Given the description of an element on the screen output the (x, y) to click on. 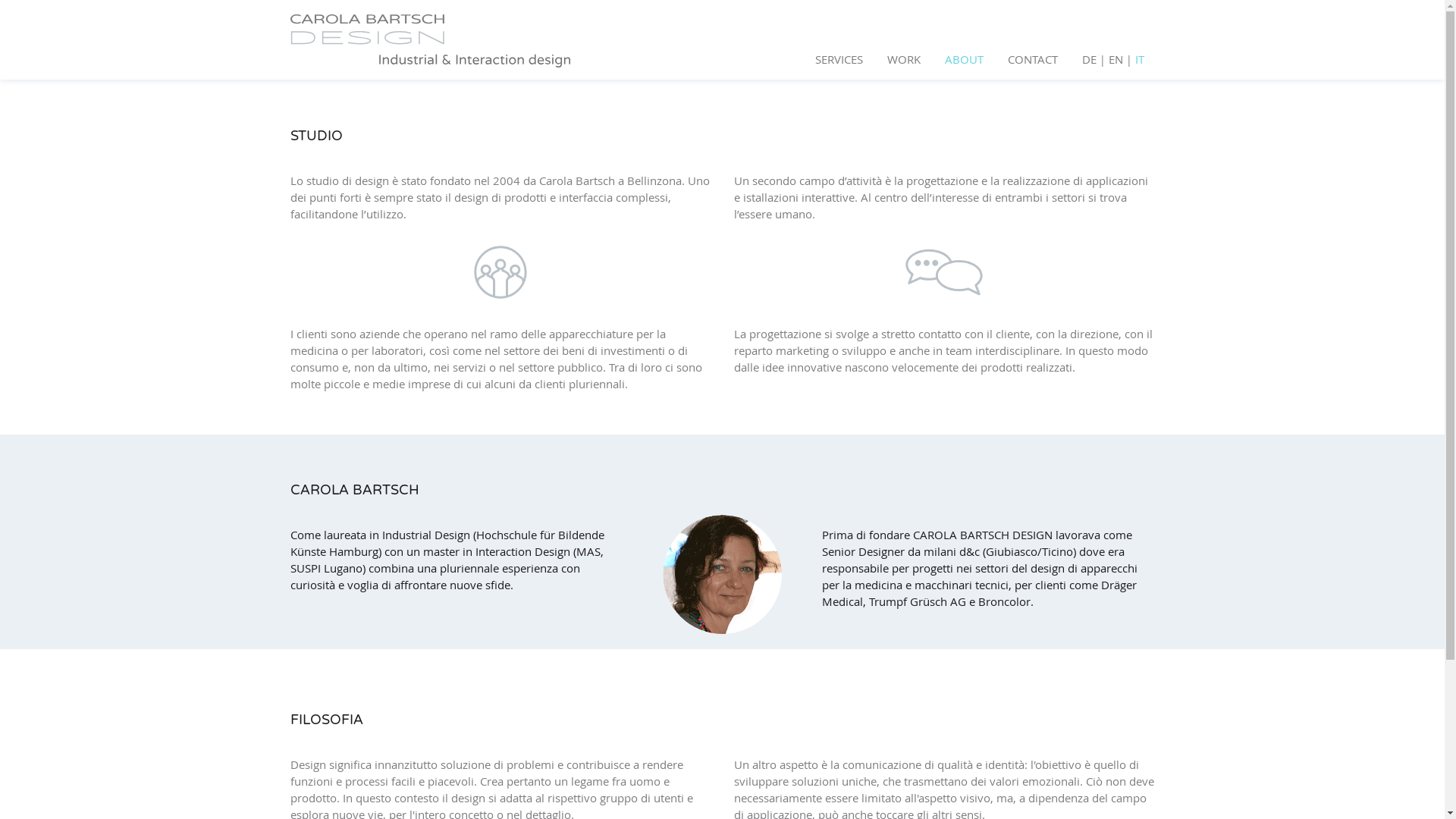
WORK Element type: text (903, 59)
DE Element type: text (1088, 59)
EN Element type: text (1115, 59)
CONTACT Element type: text (1032, 59)
ABOUT Element type: text (963, 59)
SERVICES Element type: text (838, 59)
IT Element type: text (1138, 59)
